Given the description of an element on the screen output the (x, y) to click on. 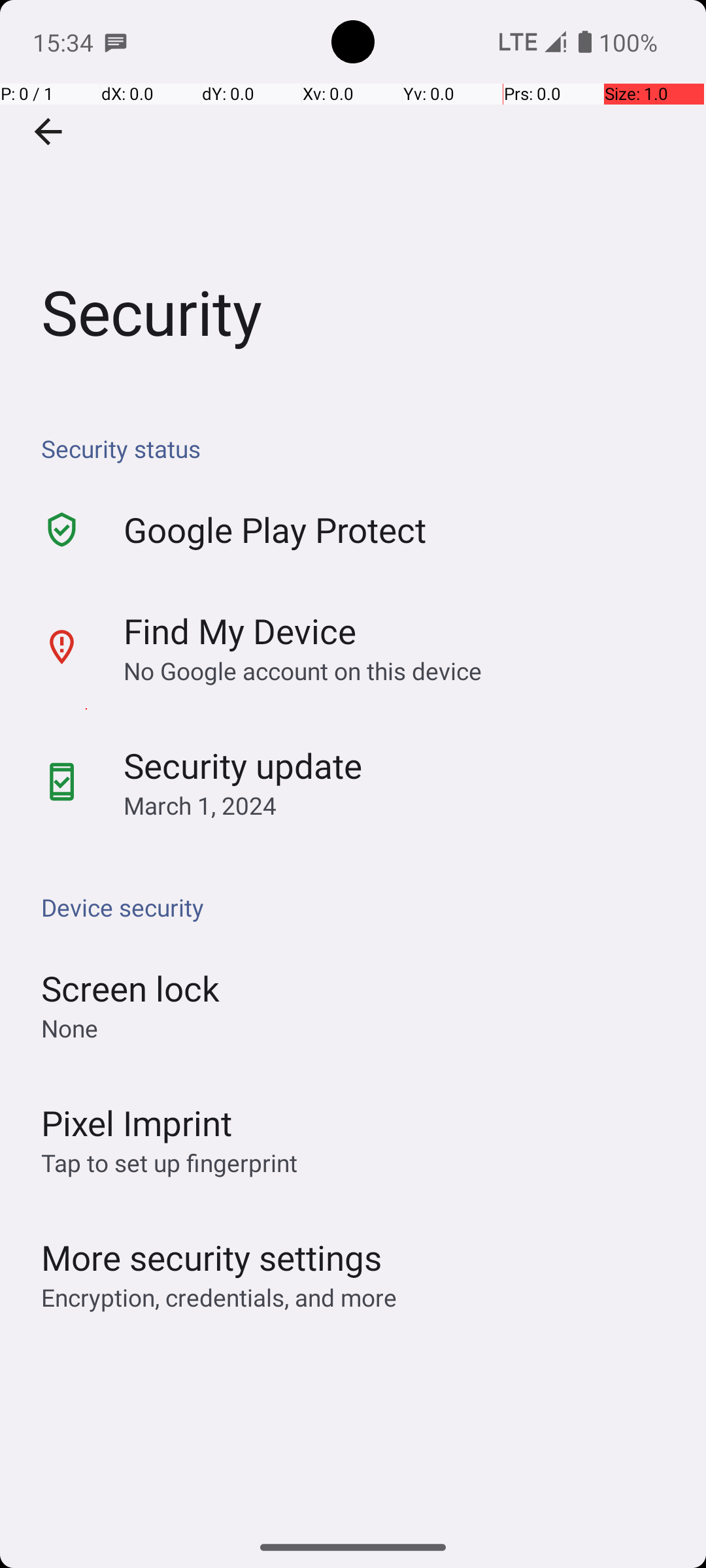
Security Element type: android.widget.FrameLayout (353, 195)
Security status Element type: android.widget.TextView (359, 448)
Google Play Protect Element type: android.widget.TextView (274, 529)
Find My Device Element type: android.widget.TextView (239, 630)
No Google account on this device Element type: android.widget.TextView (302, 670)
Security update Element type: android.widget.TextView (242, 765)
March 1, 2024 Element type: android.widget.TextView (199, 804)
Device security Element type: android.widget.TextView (359, 906)
Screen lock Element type: android.widget.TextView (130, 987)
Pixel Imprint Element type: android.widget.TextView (136, 1122)
Tap to set up fingerprint Element type: android.widget.TextView (169, 1162)
More security settings Element type: android.widget.TextView (211, 1257)
Encryption, credentials, and more Element type: android.widget.TextView (218, 1296)
